Given the description of an element on the screen output the (x, y) to click on. 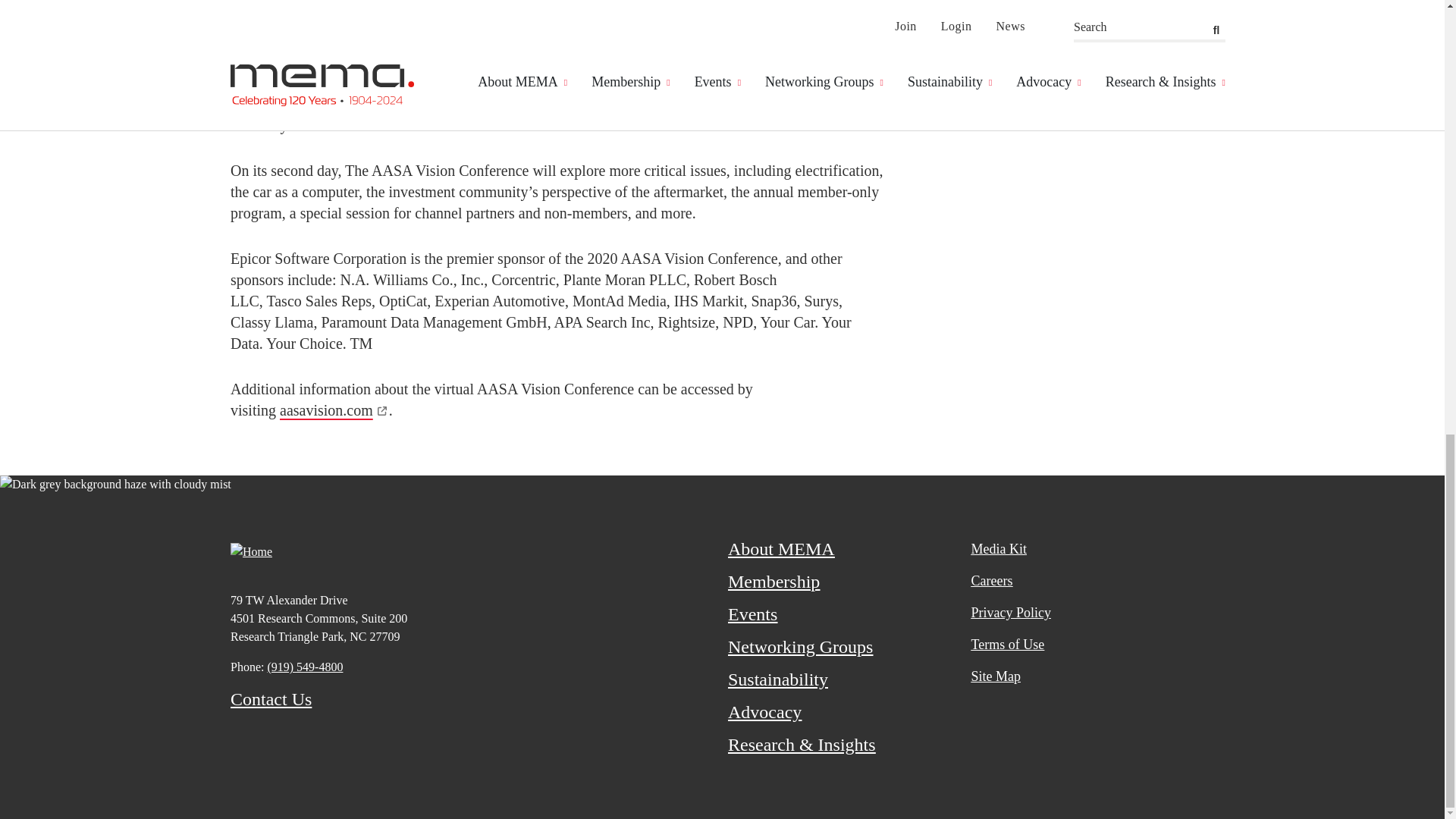
Contact Us (270, 699)
